Given the description of an element on the screen output the (x, y) to click on. 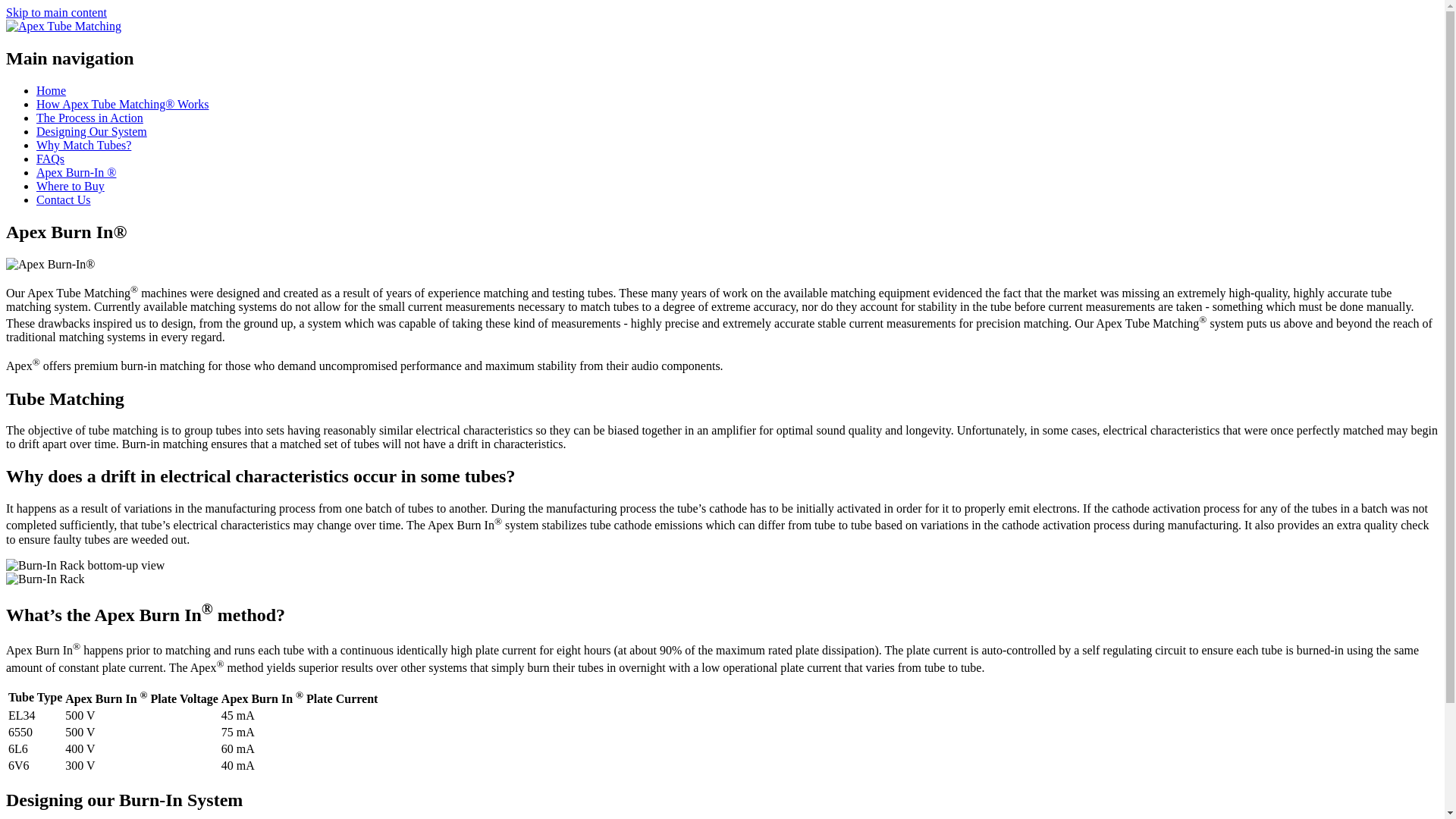
Burn-In Rack (44, 579)
Burn-In Rack bottom-up view (84, 565)
Where to Buy (70, 185)
Home (50, 90)
Why Match Tubes? (83, 144)
The Process in Action (89, 117)
Home (62, 25)
Contact Us (63, 199)
Designing Our System (91, 131)
Skip to main content (55, 11)
